Given the description of an element on the screen output the (x, y) to click on. 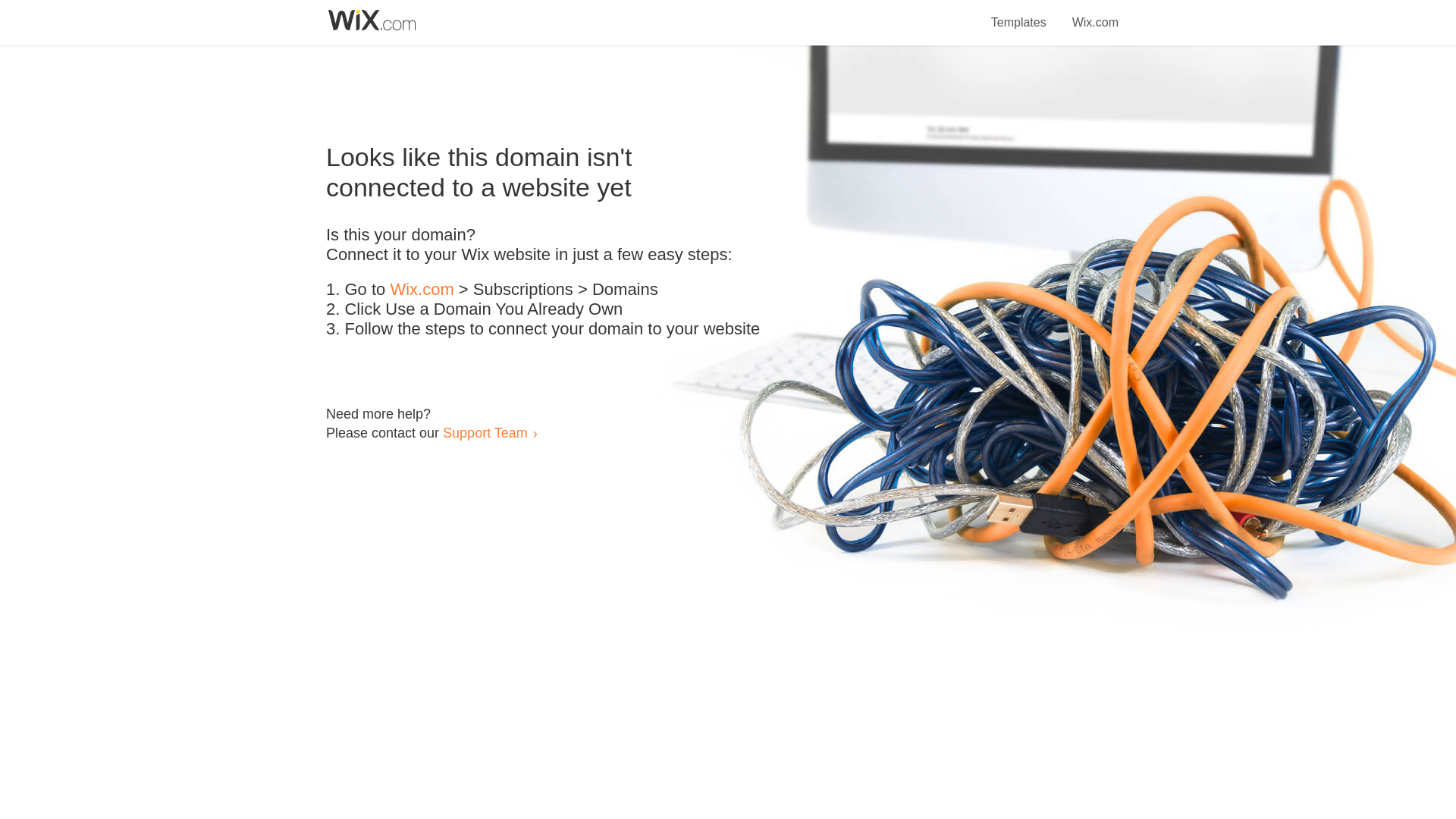
Wix.com (1095, 14)
Wix.com (421, 289)
Templates (1018, 14)
Support Team (484, 432)
